Given the description of an element on the screen output the (x, y) to click on. 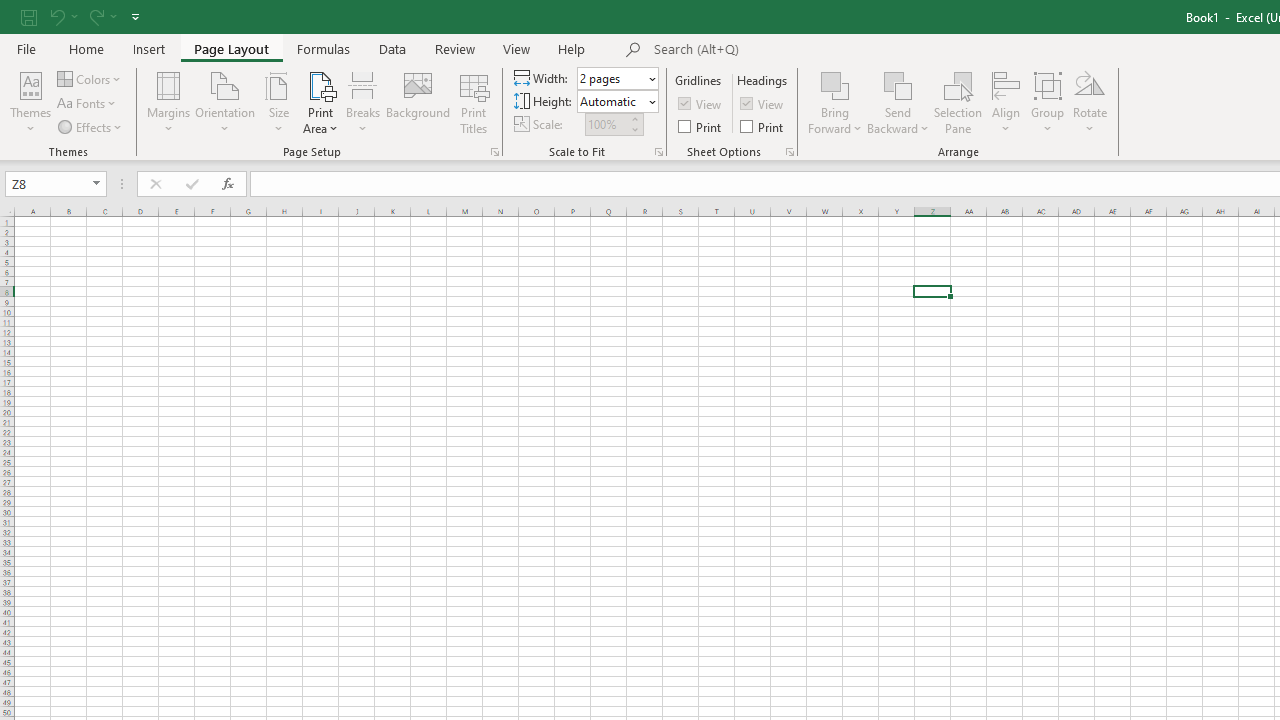
Group (1047, 102)
Scale (605, 124)
Sheet Options (789, 151)
Bring Forward (835, 84)
Effects (91, 126)
Background... (418, 102)
Themes (30, 102)
